Given the description of an element on the screen output the (x, y) to click on. 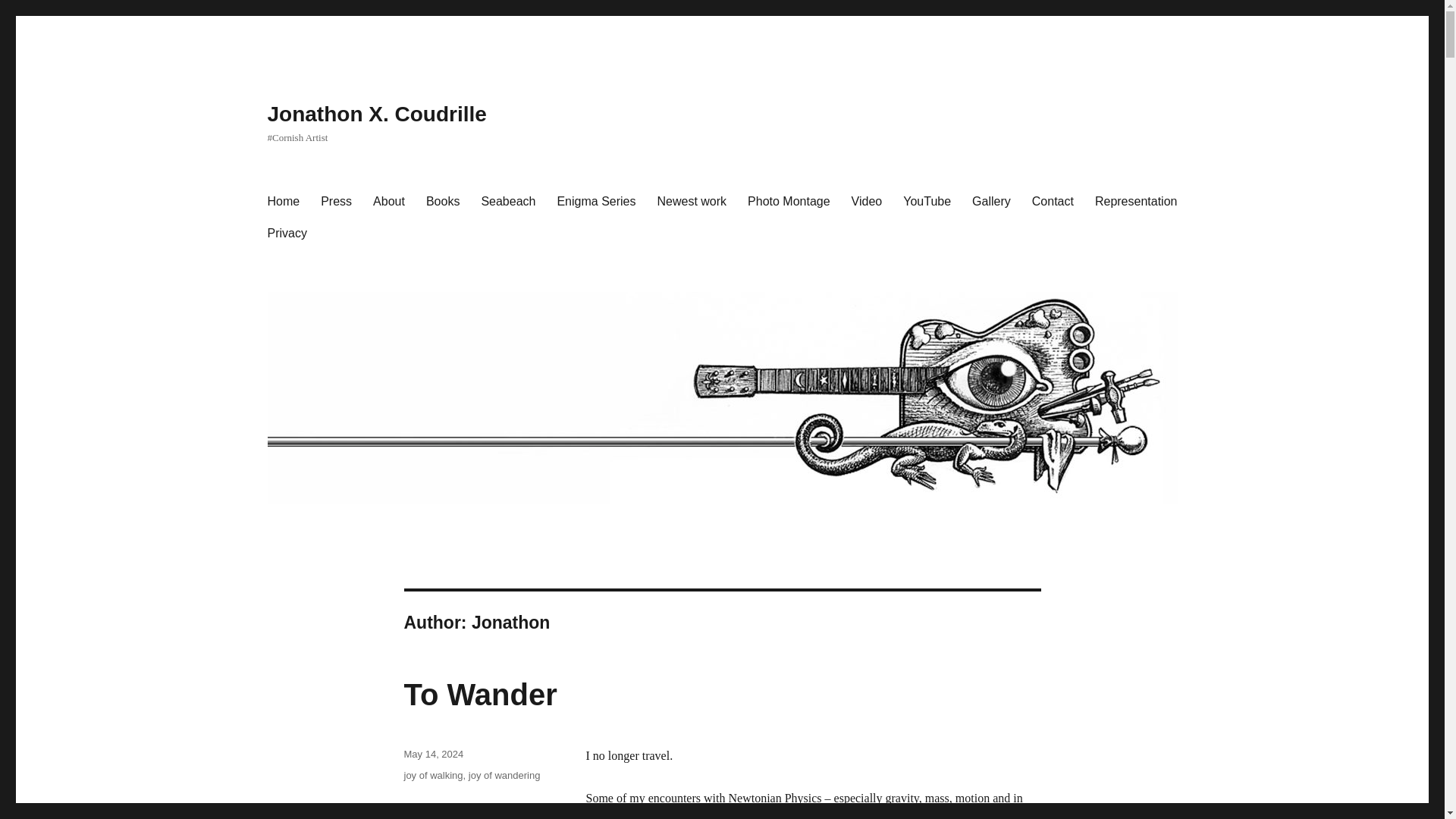
Privacy (286, 233)
Video (867, 201)
Enigma Series (596, 201)
Press (336, 201)
Newest work (691, 201)
Representation (1136, 201)
Books (442, 201)
Home (283, 201)
Contact (1053, 201)
Photo Montage (788, 201)
